Given the description of an element on the screen output the (x, y) to click on. 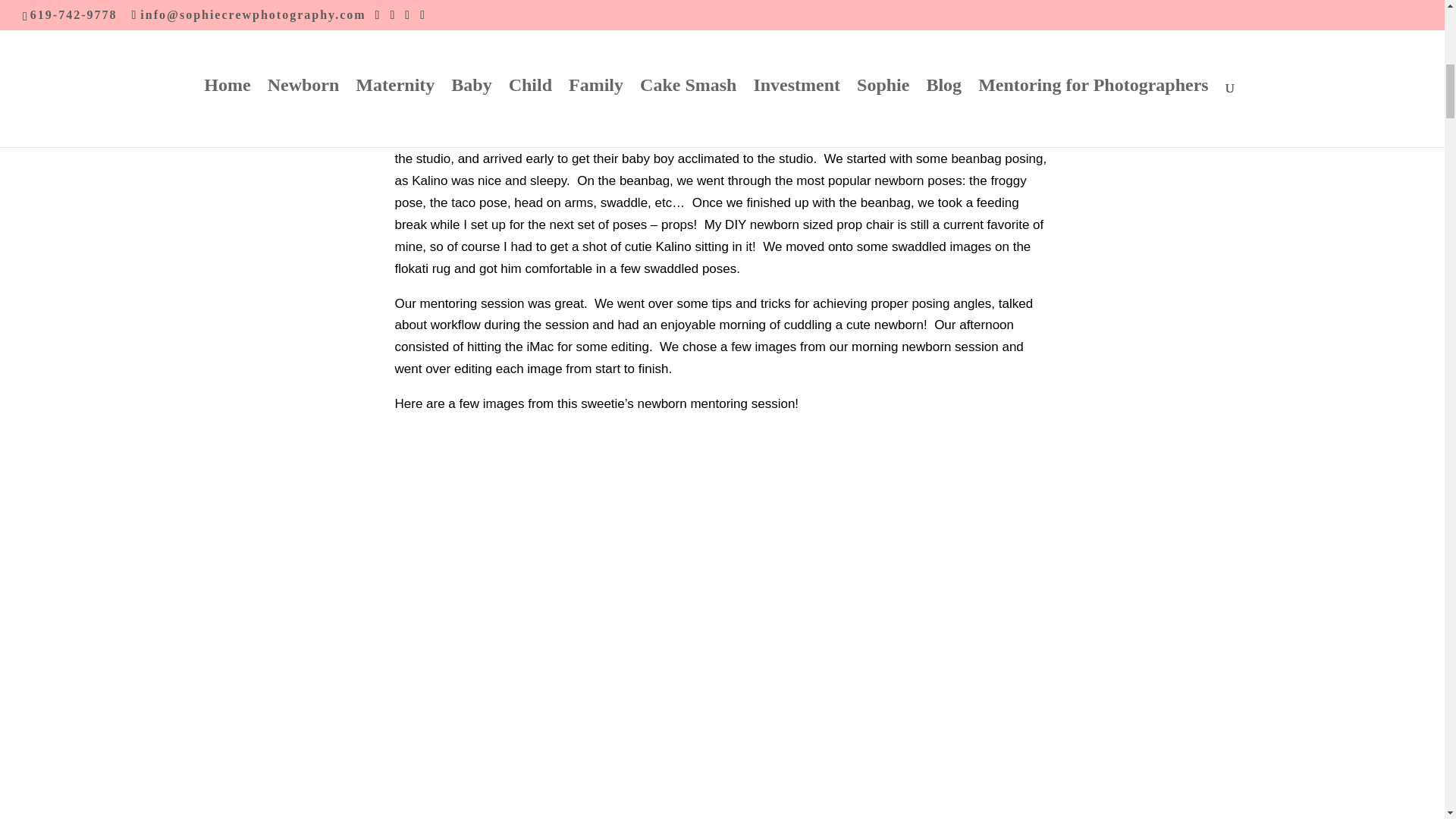
San Diego newborn baby studio (717, 80)
